Given the description of an element on the screen output the (x, y) to click on. 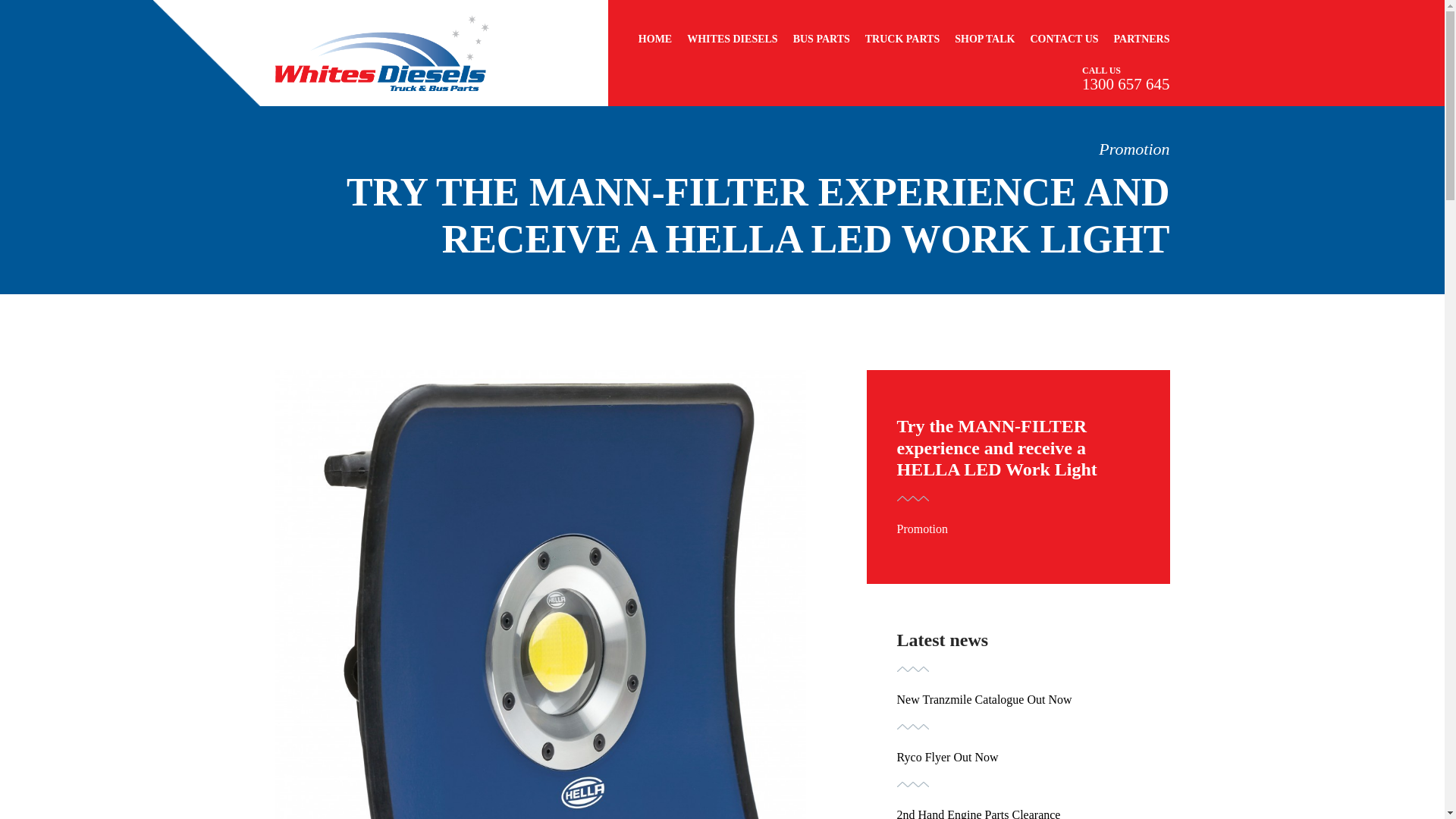
New Tranzmile Catalogue Out Now (983, 698)
TRUCK PARTS (901, 39)
WHITES DIESELS (732, 39)
PARTNERS (1141, 39)
CONTACT US (1063, 39)
SHOP TALK (984, 39)
Ryco Flyer Out Now (946, 757)
2nd Hand Engine Parts Clearance (977, 813)
BUS PARTS (821, 39)
HOME (655, 39)
